Given the description of an element on the screen output the (x, y) to click on. 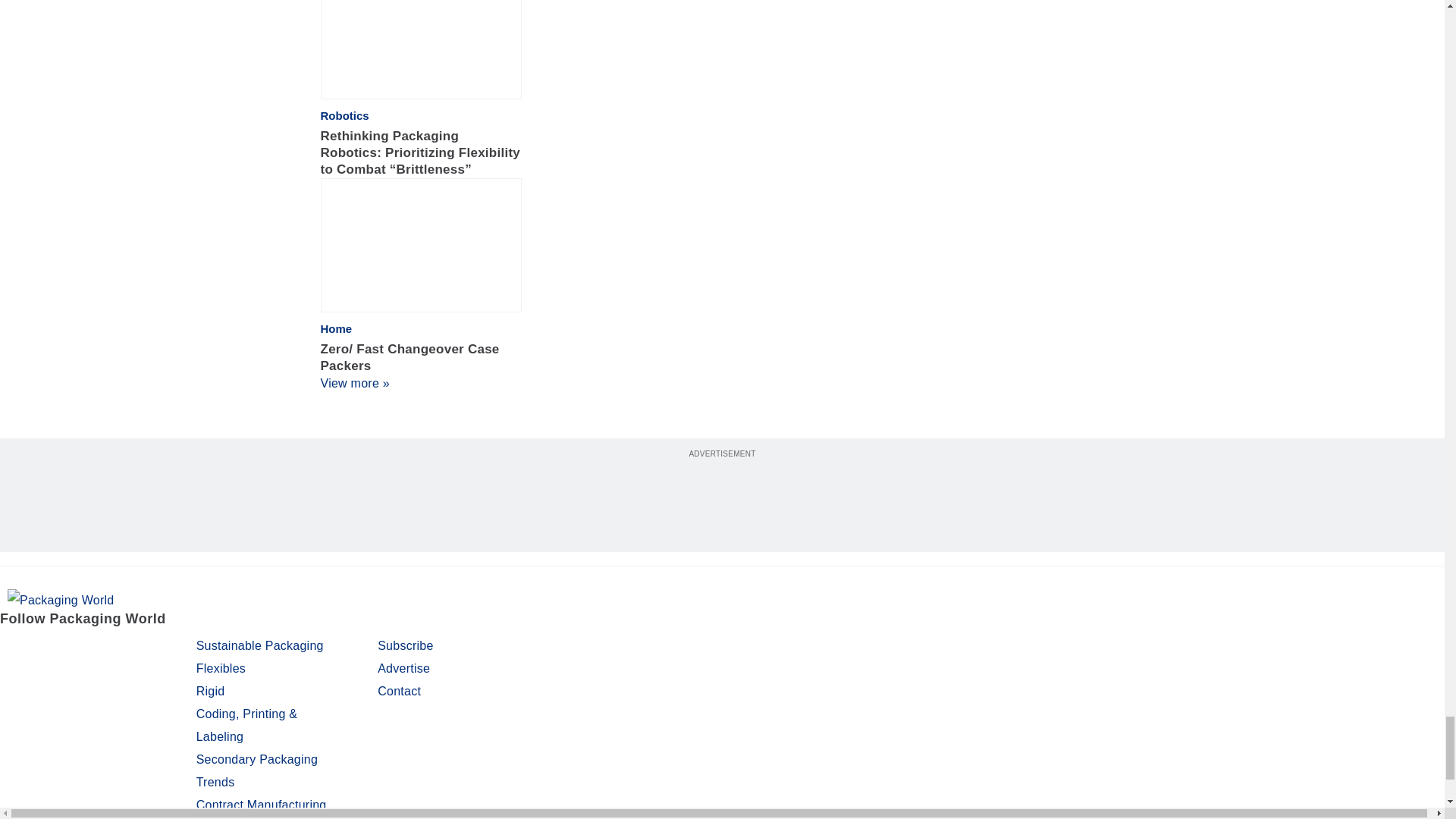
LinkedIn icon (94, 647)
YouTube icon (133, 647)
Twitter X icon (52, 647)
Facebook icon (13, 647)
